Given the description of an element on the screen output the (x, y) to click on. 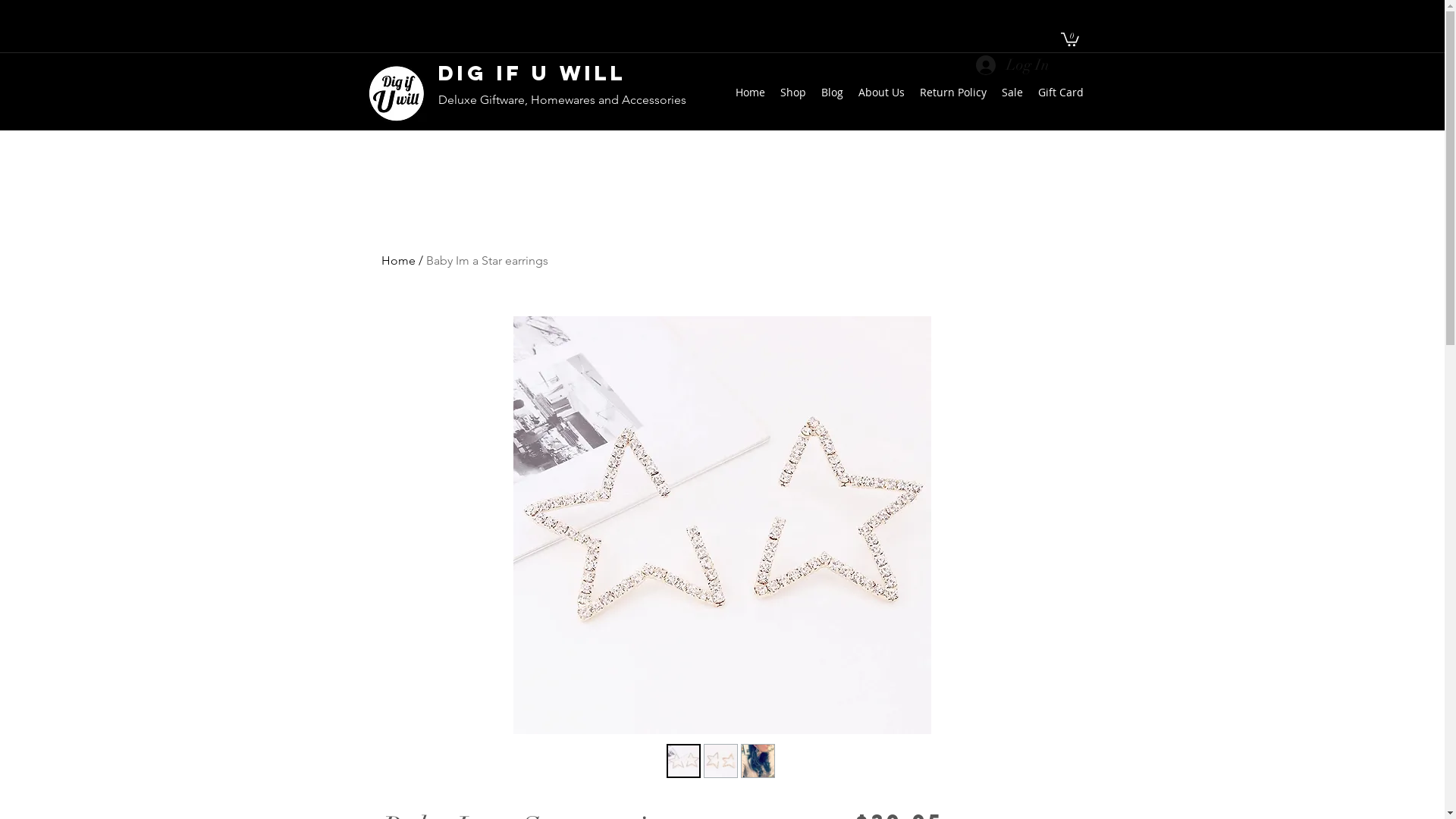
About Us Element type: text (881, 92)
0 Element type: text (1069, 38)
Home Element type: text (397, 260)
Blog Element type: text (831, 92)
Gift Card Element type: text (1059, 92)
Baby Im a Star earrings Element type: text (487, 260)
Sale Element type: text (1011, 92)
Home Element type: text (750, 92)
Log In Element type: text (1009, 64)
Return Policy Element type: text (952, 92)
Shop Element type: text (791, 92)
